Given the description of an element on the screen output the (x, y) to click on. 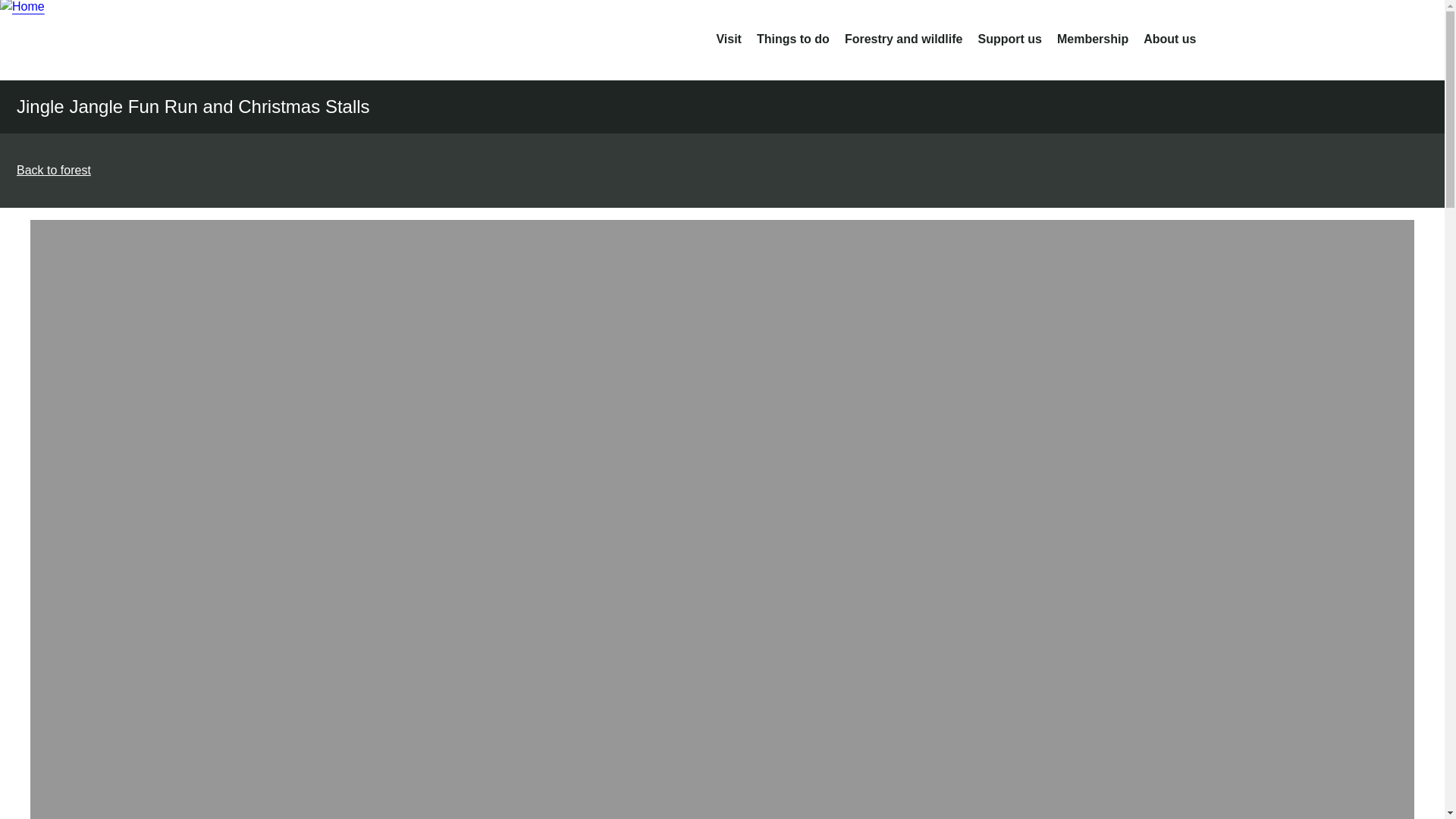
Visit (728, 38)
Home (120, 40)
Forestry and wildlife (903, 38)
Things to do (793, 38)
